Given the description of an element on the screen output the (x, y) to click on. 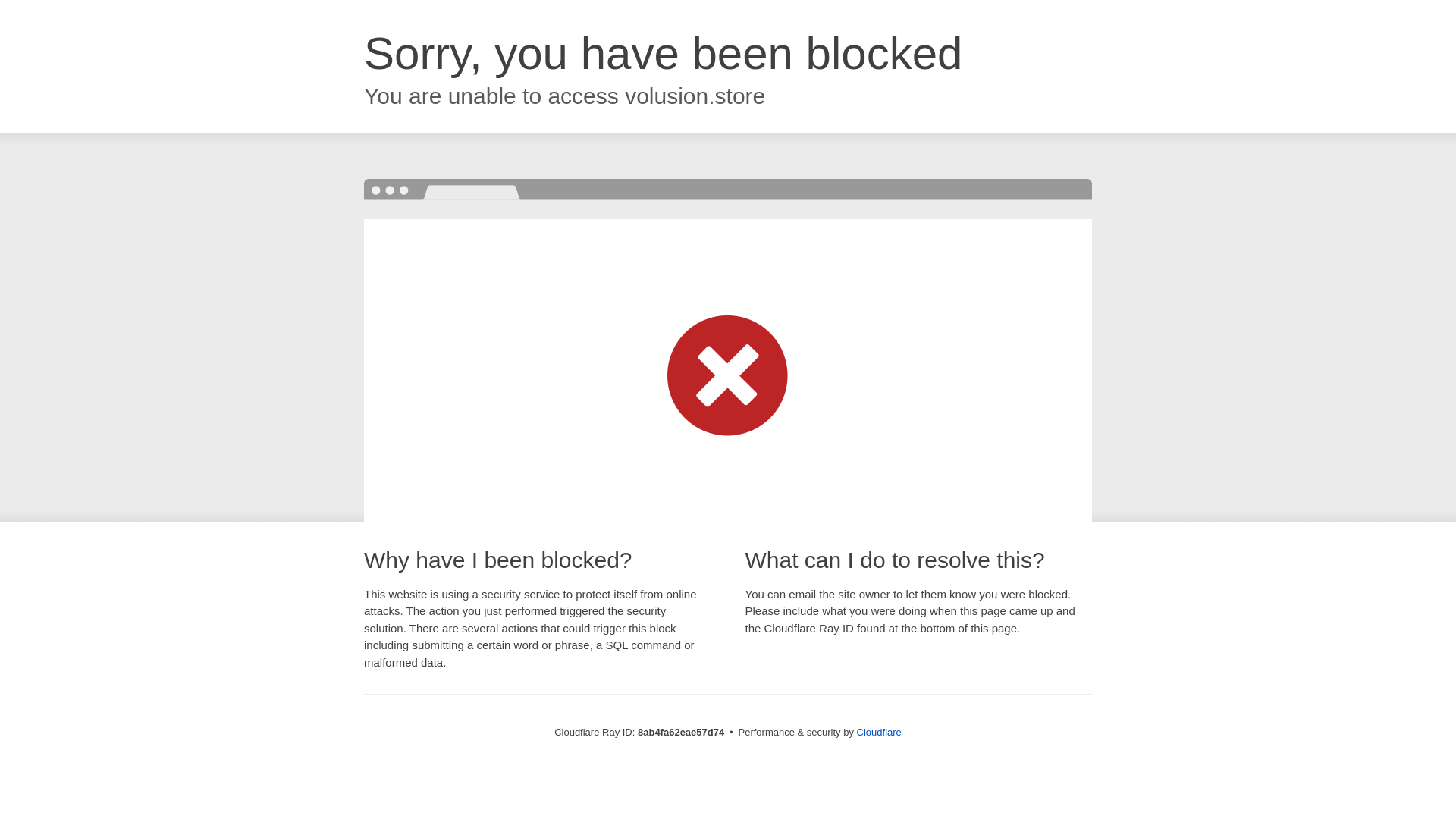
Cloudflare (879, 731)
